Given the description of an element on the screen output the (x, y) to click on. 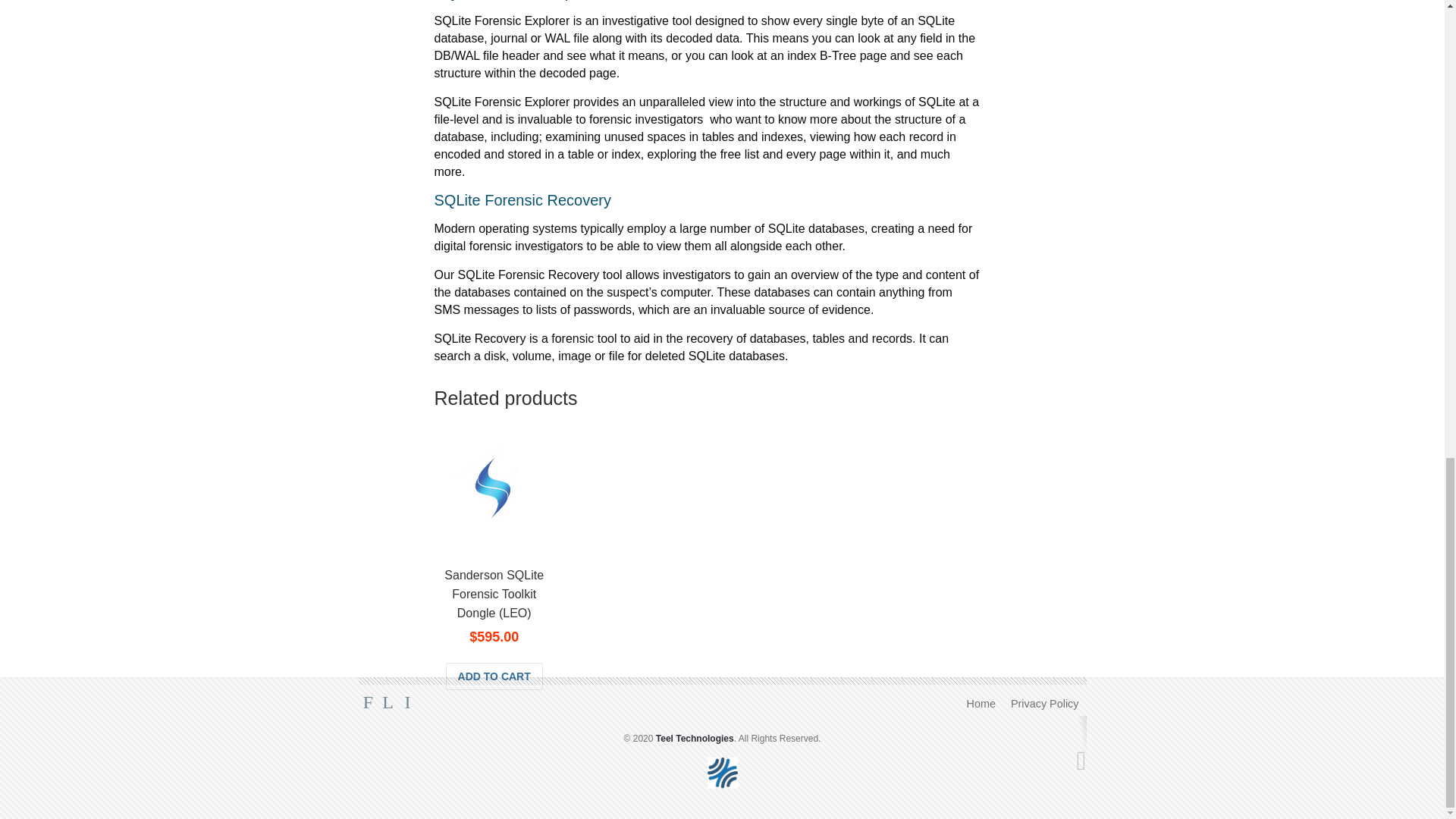
LinkedIn (407, 701)
Twitter (387, 701)
Facebook (368, 701)
